Given the description of an element on the screen output the (x, y) to click on. 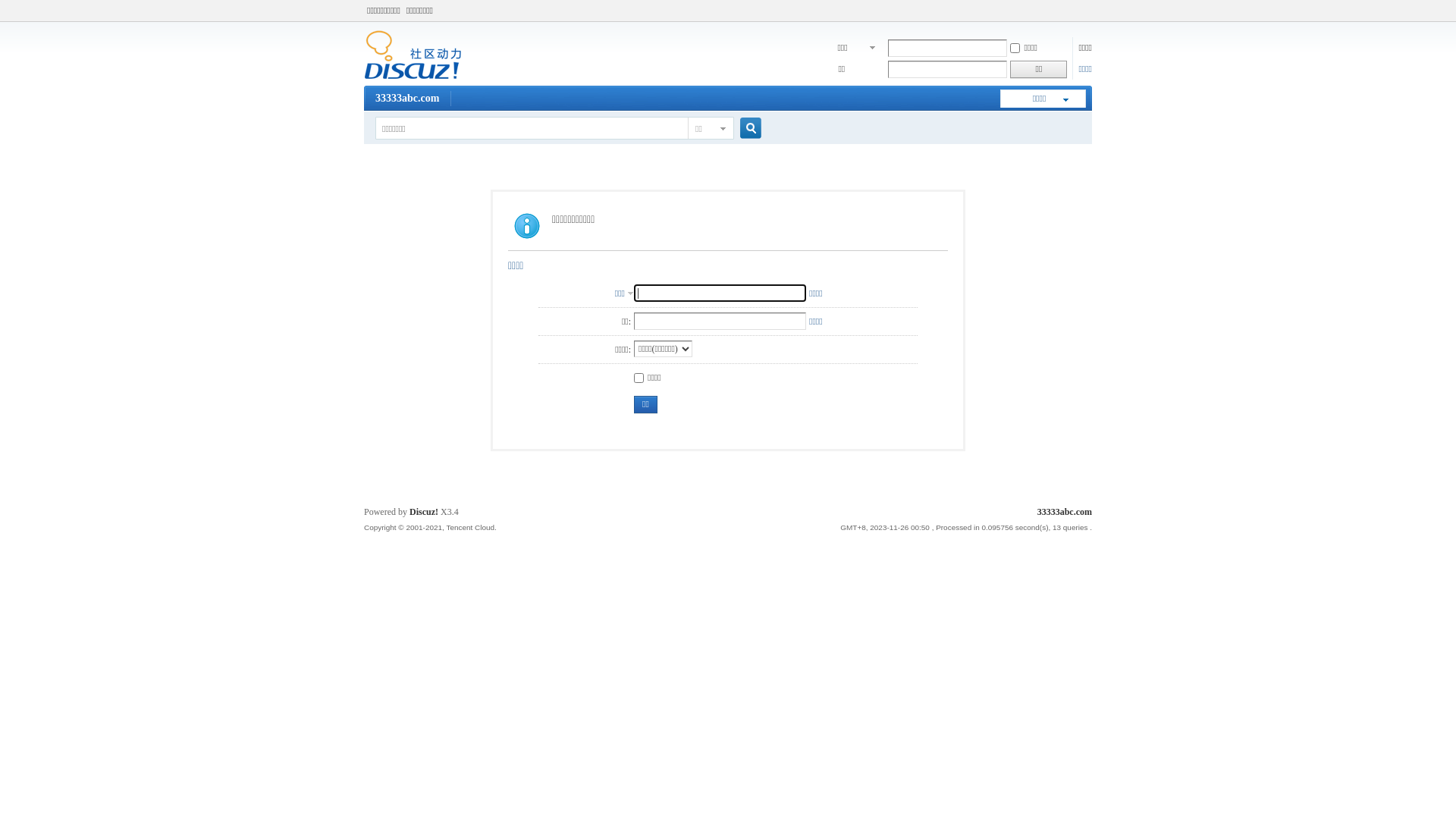
33333abc.com Element type: text (407, 97)
33333abc.com Element type: hover (412, 76)
33333abc.com Element type: text (1064, 511)
true Element type: text (745, 128)
Discuz! Element type: text (423, 511)
